Given the description of an element on the screen output the (x, y) to click on. 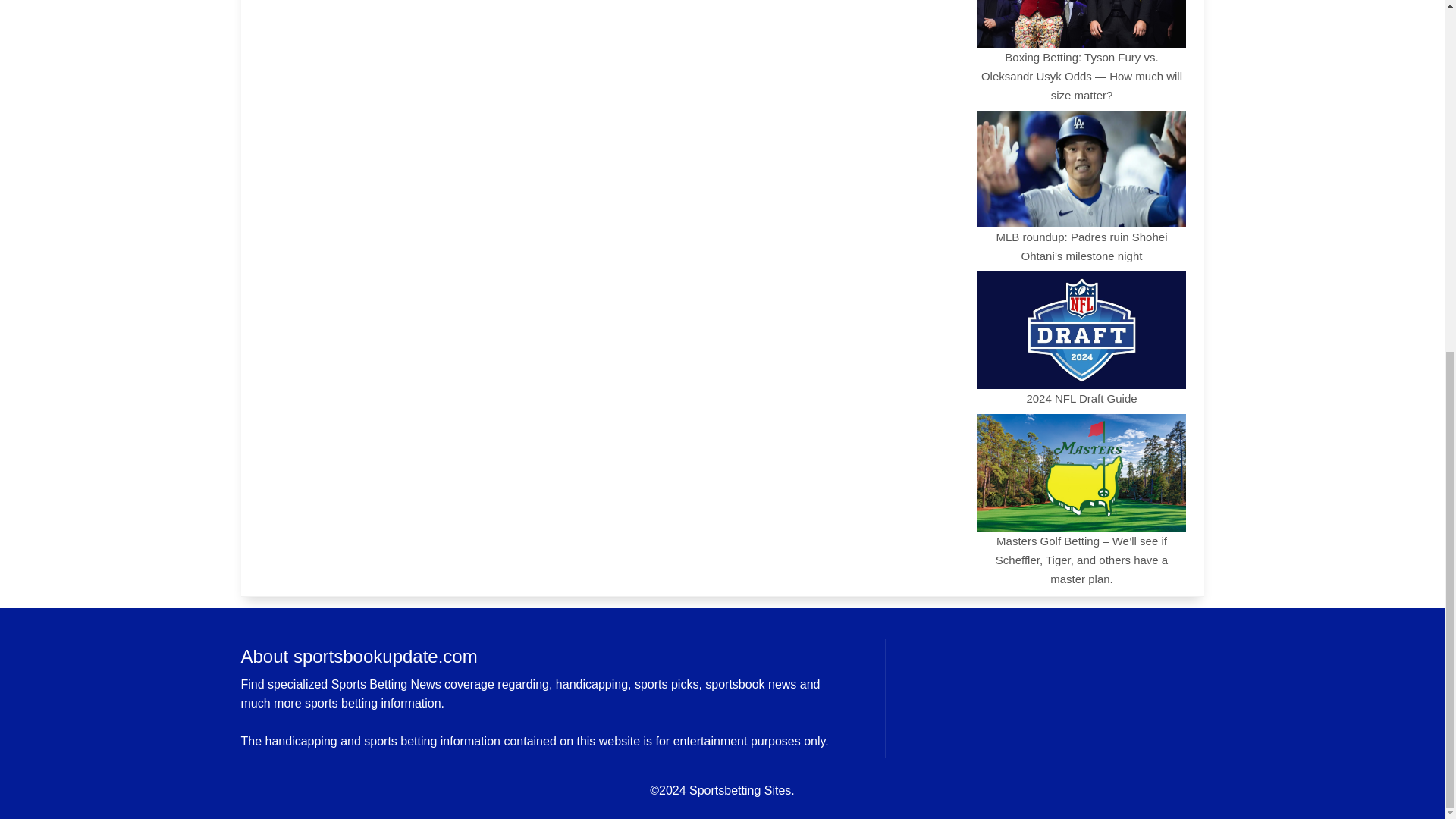
2024 NFL Draft Guide (1081, 337)
